Given the description of an element on the screen output the (x, y) to click on. 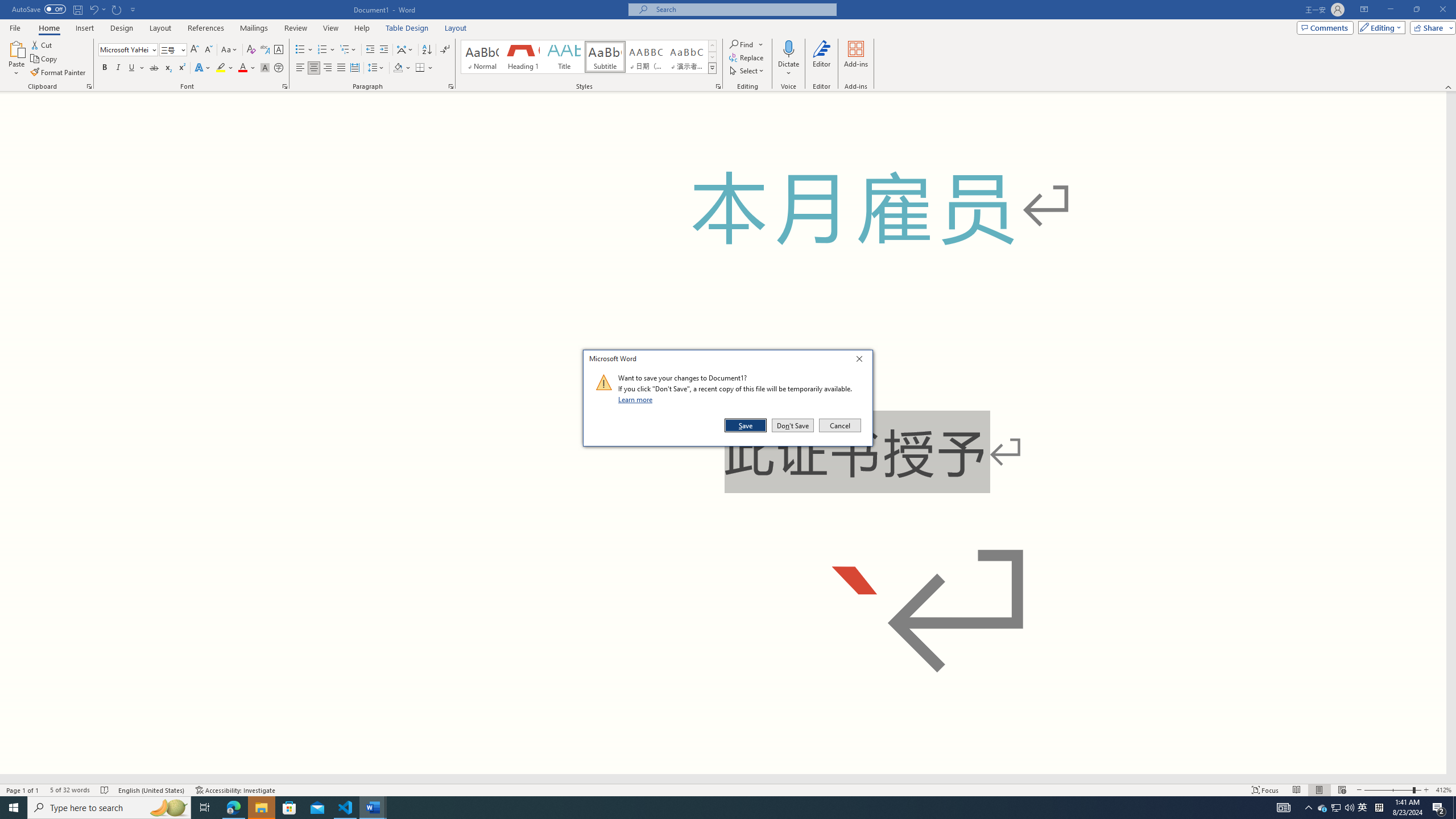
Page Number Page 1 of 1 (22, 790)
